Given the description of an element on the screen output the (x, y) to click on. 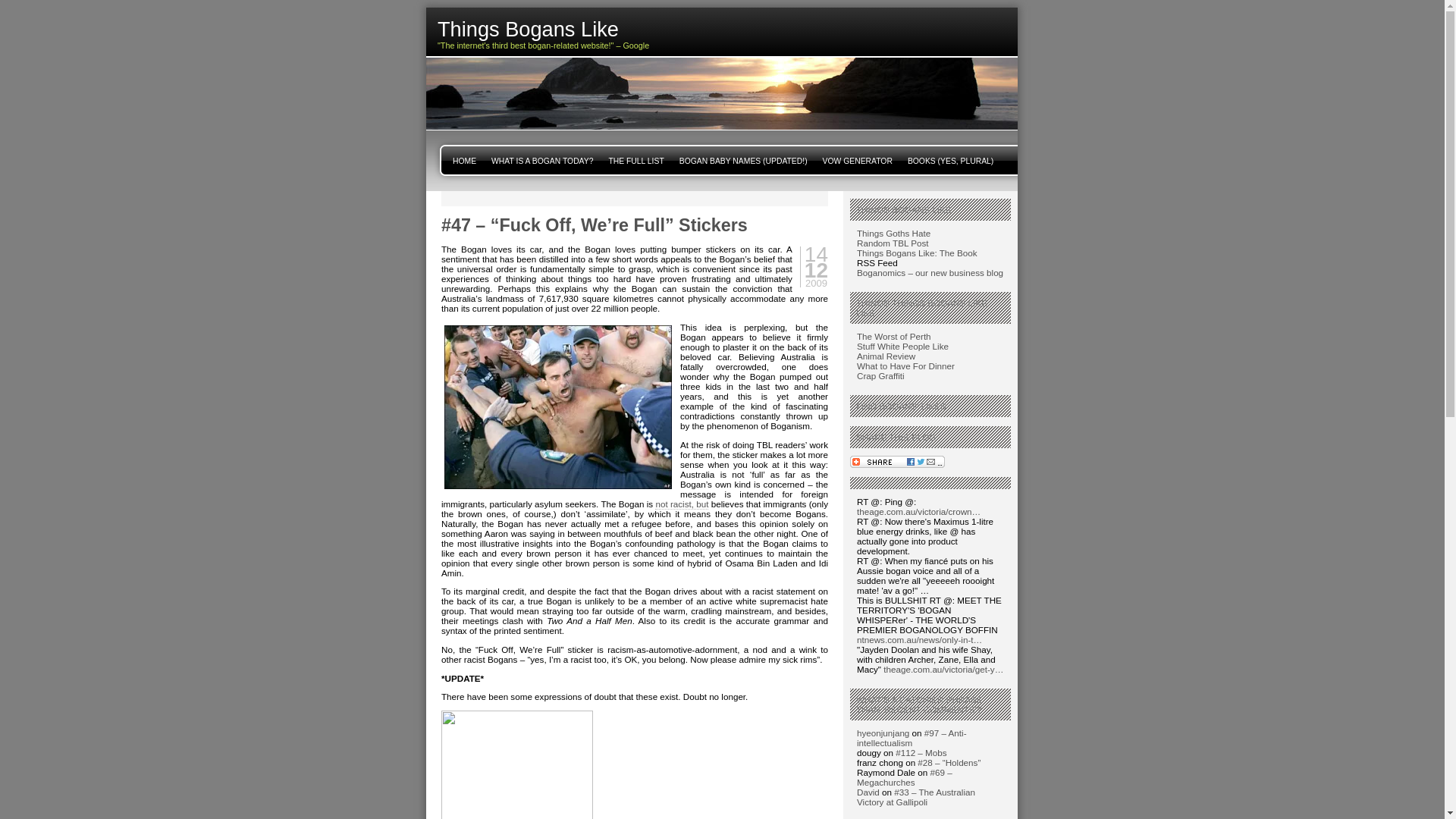
The Worst of Perth (894, 336)
Animal Review (886, 356)
VOW GENERATOR (857, 160)
Things Bogans Like (718, 28)
Crap Graffiti (880, 375)
Stuff White People Like (903, 346)
Things Goths Hate (893, 233)
Random TBL Post (892, 243)
The Full List (635, 160)
WHAT IS A BOGAN TODAY? (541, 160)
What to Have For Dinner (906, 366)
hyeonjunjang (882, 732)
